Given the description of an element on the screen output the (x, y) to click on. 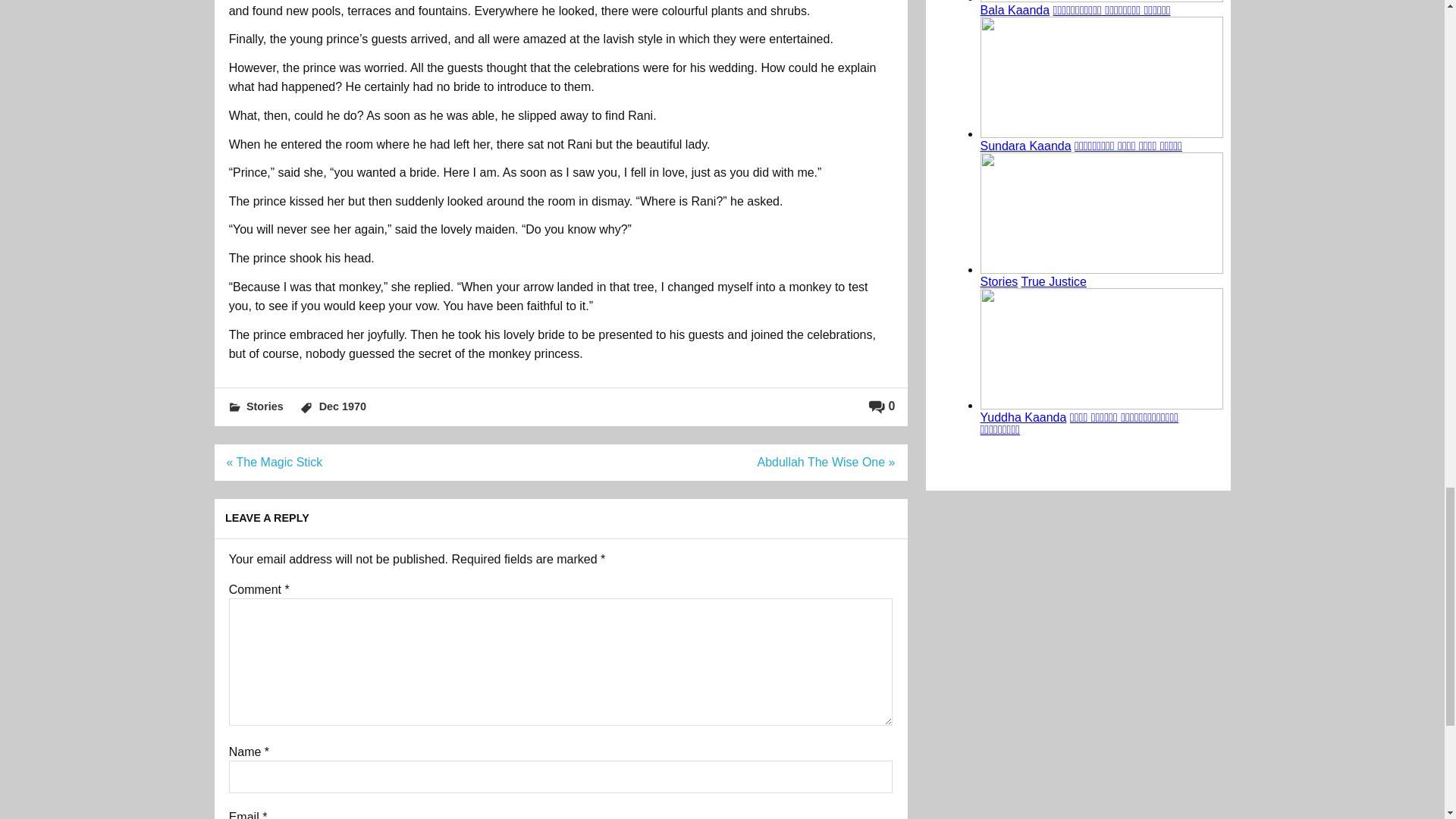
0 (882, 405)
Dec 1970 (342, 406)
Stories (264, 406)
